Given the description of an element on the screen output the (x, y) to click on. 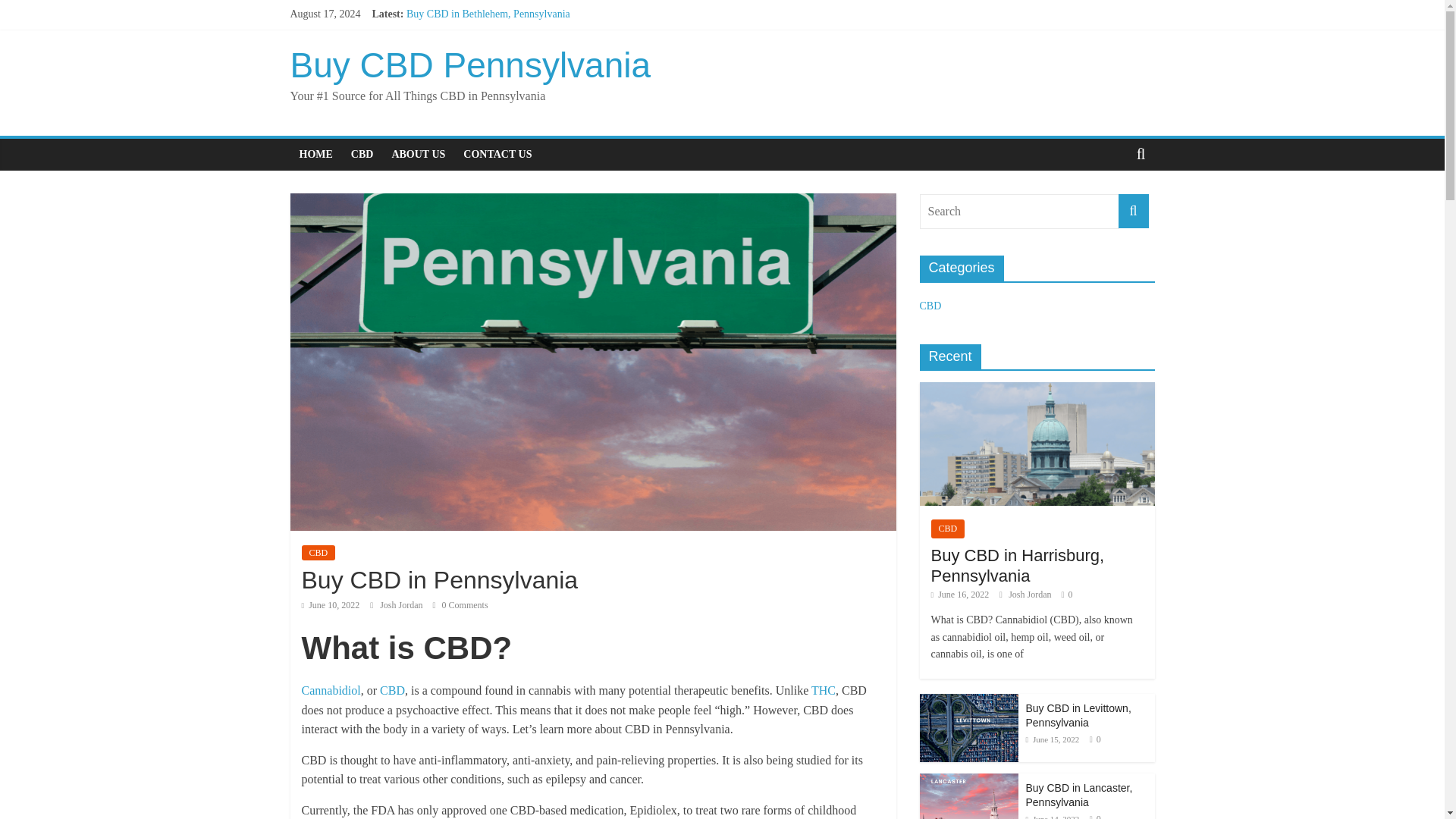
Buy CBD in Levittown, Pennsylvania (486, 48)
Buy CBD in Lancaster, Pennsylvania (485, 64)
THC (822, 689)
0 Comments (459, 604)
Buy CBD in Harrisburg, Pennsylvania (488, 30)
Buy CBD in Harrisburg, Pennsylvania (488, 30)
June 10, 2022 (330, 604)
Cannabidiol (331, 689)
